Given the description of an element on the screen output the (x, y) to click on. 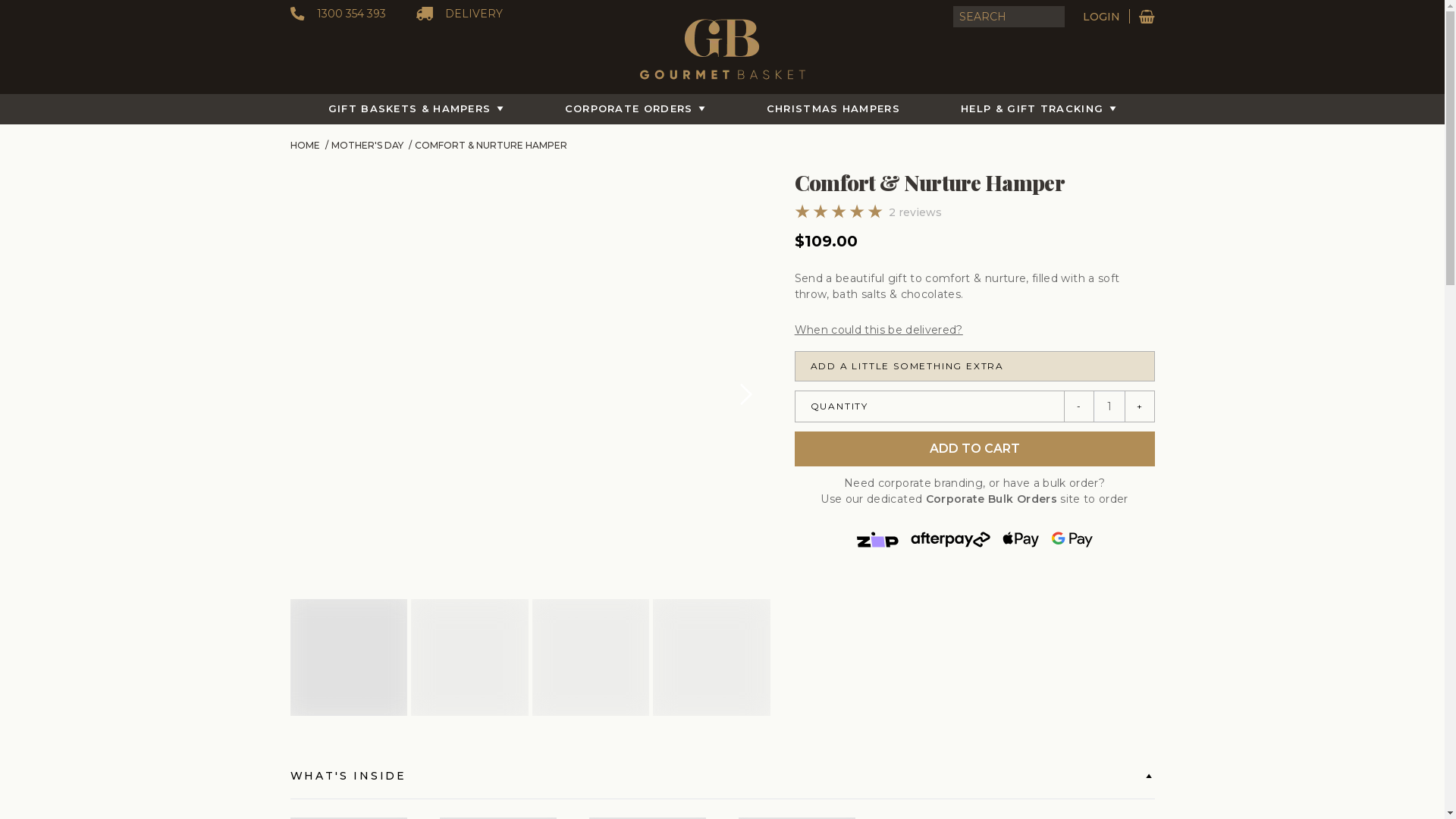
Privacy and Security Element type: text (334, 624)
Gift Hampers Adelaide Element type: text (931, 783)
Corporate Gifting Brochure Element type: text (781, 605)
Delivery Information Element type: text (551, 605)
Request a Quote Element type: text (757, 569)
Blog Element type: text (299, 678)
CHRISTMAS HAMPERS Element type: text (832, 109)
Gift Hampers Sydney Element type: text (510, 783)
Corporate Gift Program Element type: text (774, 551)
CORPORATE ORDERS Element type: text (635, 109)
LOGIN Element type: text (1105, 16)
GB Rewards Program Element type: text (554, 660)
Gifts Hampers Brisbane Element type: text (731, 783)
HELP & GIFT TRACKING Element type: text (1038, 109)
Click & Collect Element type: text (536, 642)
Gift Hampers Perth Element type: text (833, 783)
Gift Hampers Melbourne Element type: text (618, 783)
Press Element type: text (300, 642)
DELIVERY Element type: text (458, 13)
FAQs & Help Element type: text (533, 569)
Affiliates Element type: text (307, 587)
Gift Vouchers Element type: text (535, 624)
Careers Element type: text (305, 660)
Terms and Conditions Element type: text (336, 605)
About Us Element type: text (309, 551)
Contact Us Element type: text (530, 551)
GIFT BASKETS & HAMPERS Element type: text (416, 109)
JOIN NOW Element type: text (324, 340)
Track Your Order Element type: text (543, 587)
1300 354 393 Element type: text (337, 13)
Bulk Address Form Element type: text (762, 587)
Our Ambassadors Element type: text (329, 569)
